Given the description of an element on the screen output the (x, y) to click on. 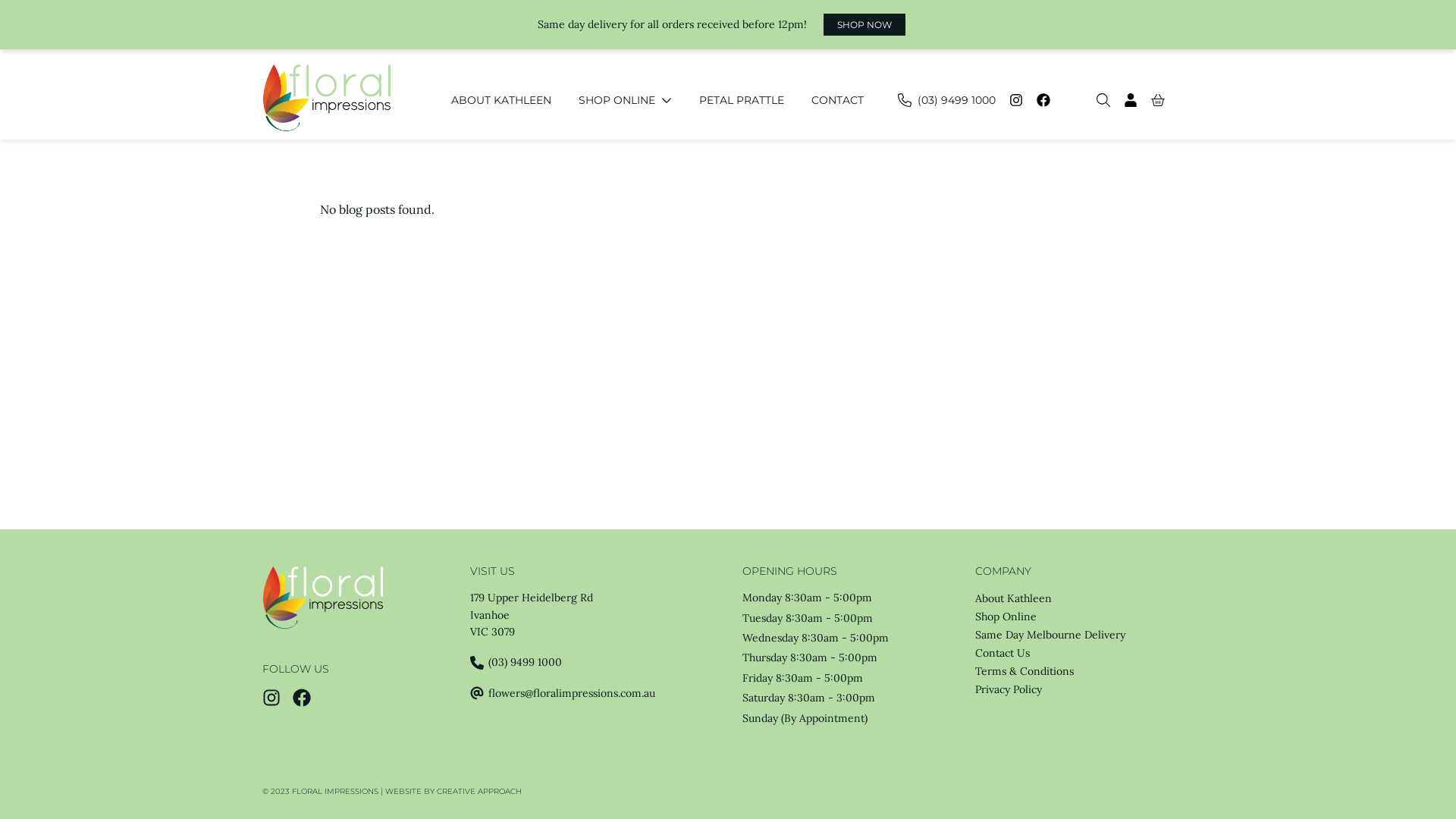
ABOUT KATHLEEN Element type: text (500, 100)
Contact Us Element type: text (1002, 652)
Facebook Element type: hover (303, 702)
Facebook Element type: hover (1043, 99)
Shop Online Element type: text (1005, 616)
About Kathleen Element type: text (1013, 598)
Instagram Element type: hover (273, 702)
PETAL PRATTLE Element type: text (741, 100)
flowers@floralimpressions.com.au Element type: text (596, 692)
(03) 9499 1000 Element type: text (596, 661)
Terms & Conditions Element type: text (1024, 670)
Privacy Policy Element type: text (1008, 689)
SHOP NOW Element type: text (864, 24)
(03) 9499 1000 Element type: text (946, 99)
Log into your account Element type: hover (1130, 99)
Same Day Melbourne Delivery Element type: text (1050, 634)
CONTACT Element type: text (837, 100)
SHOP ONLINE Element type: text (624, 100)
Instagram Element type: hover (1015, 99)
